Given the description of an element on the screen output the (x, y) to click on. 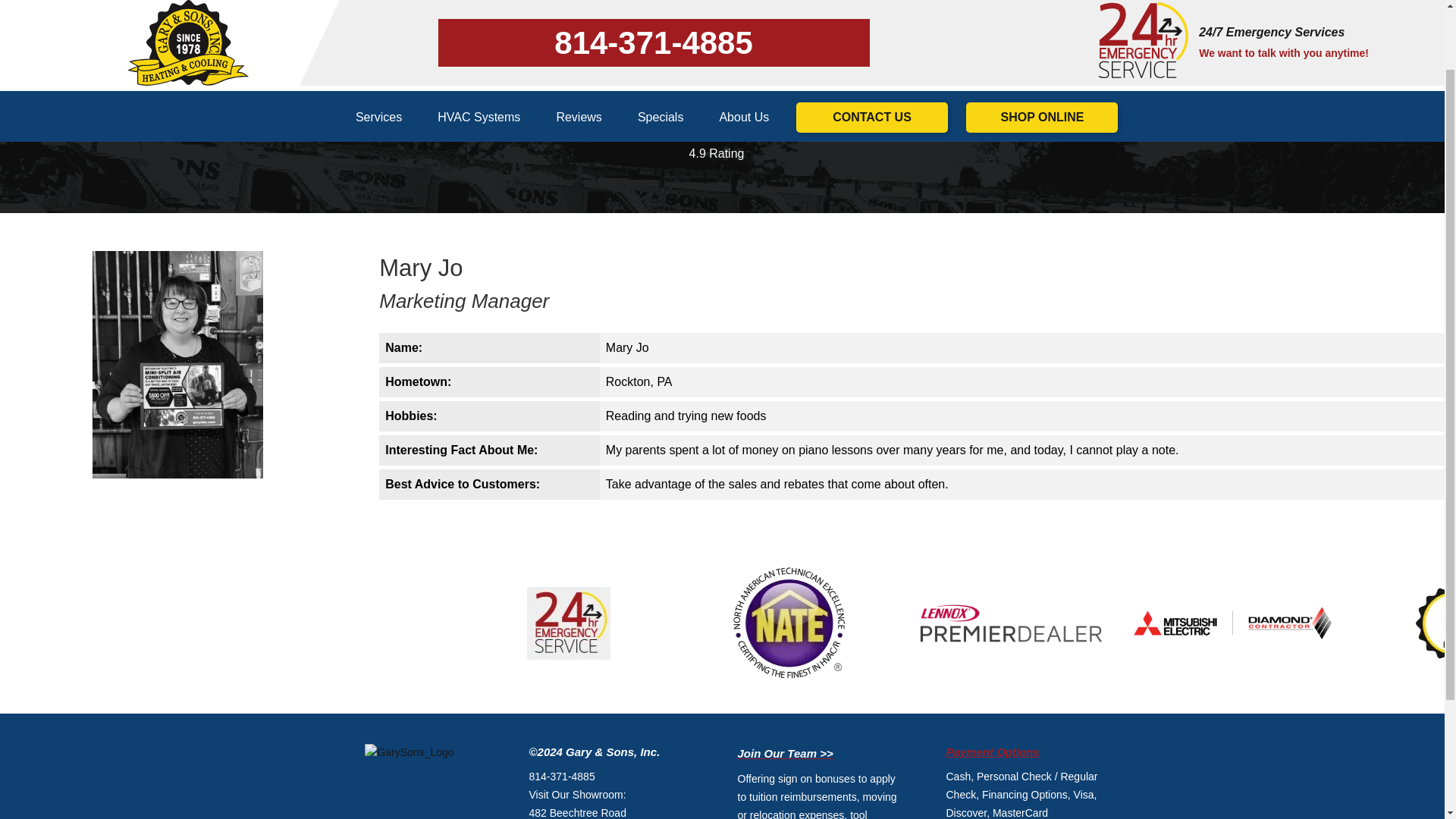
Services (378, 39)
HVAC Systems (479, 39)
Reviews (578, 39)
